Given the description of an element on the screen output the (x, y) to click on. 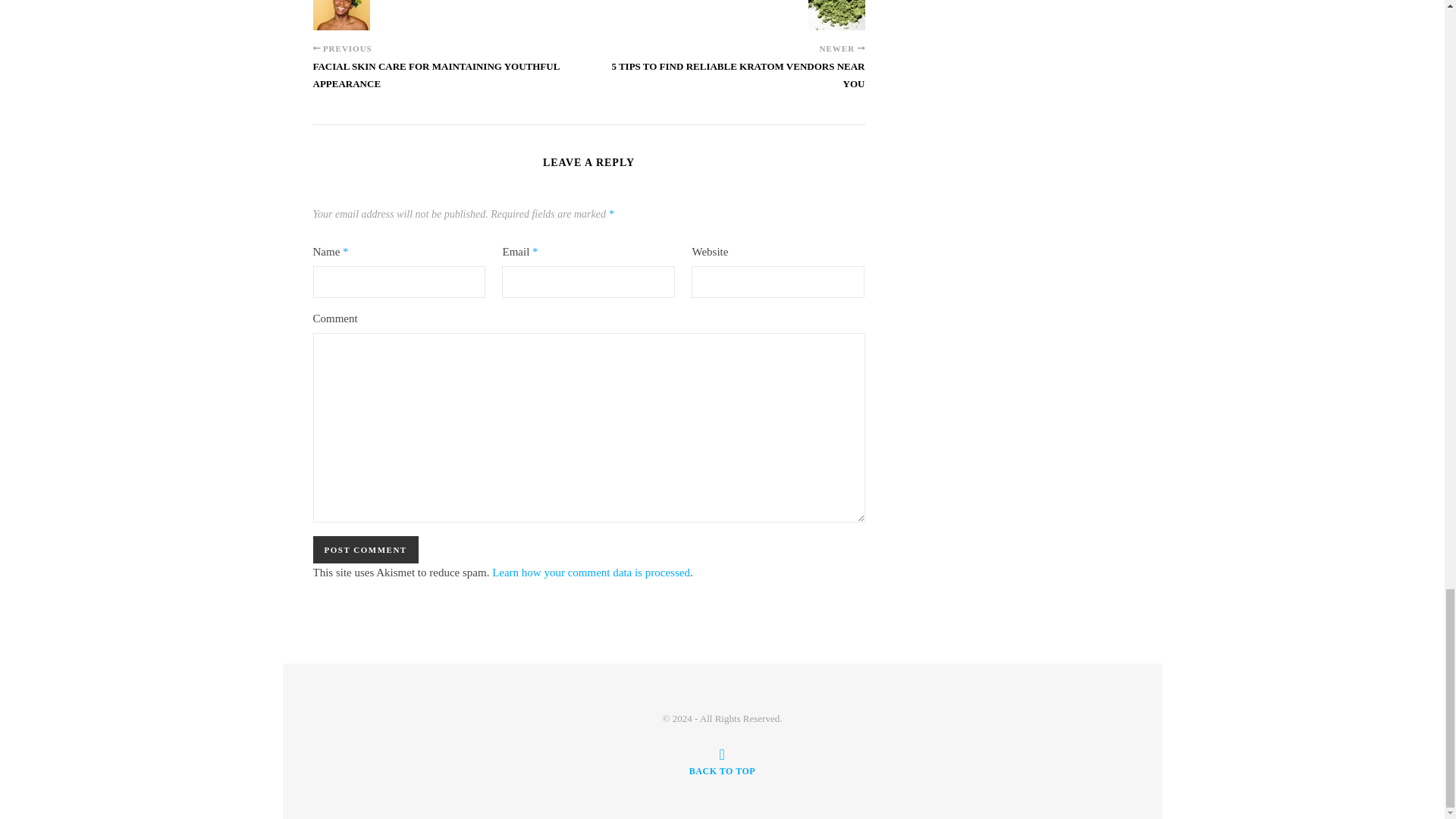
FACIAL SKIN CARE FOR MAINTAINING YOUTHFUL APPEARANCE (450, 82)
BACK TO TOP (722, 761)
Facial Skin Care For Maintaining Youthful Appearance (341, 15)
5 TIPS TO FIND RELIABLE KRATOM VENDORS NEAR YOU (726, 82)
5 Tips To Find Reliable Kratom Vendors Near You (836, 15)
5 Tips To Find Reliable Kratom Vendors Near You (726, 82)
Facial Skin Care For Maintaining Youthful Appearance (450, 82)
Post Comment (365, 549)
